Given the description of an element on the screen output the (x, y) to click on. 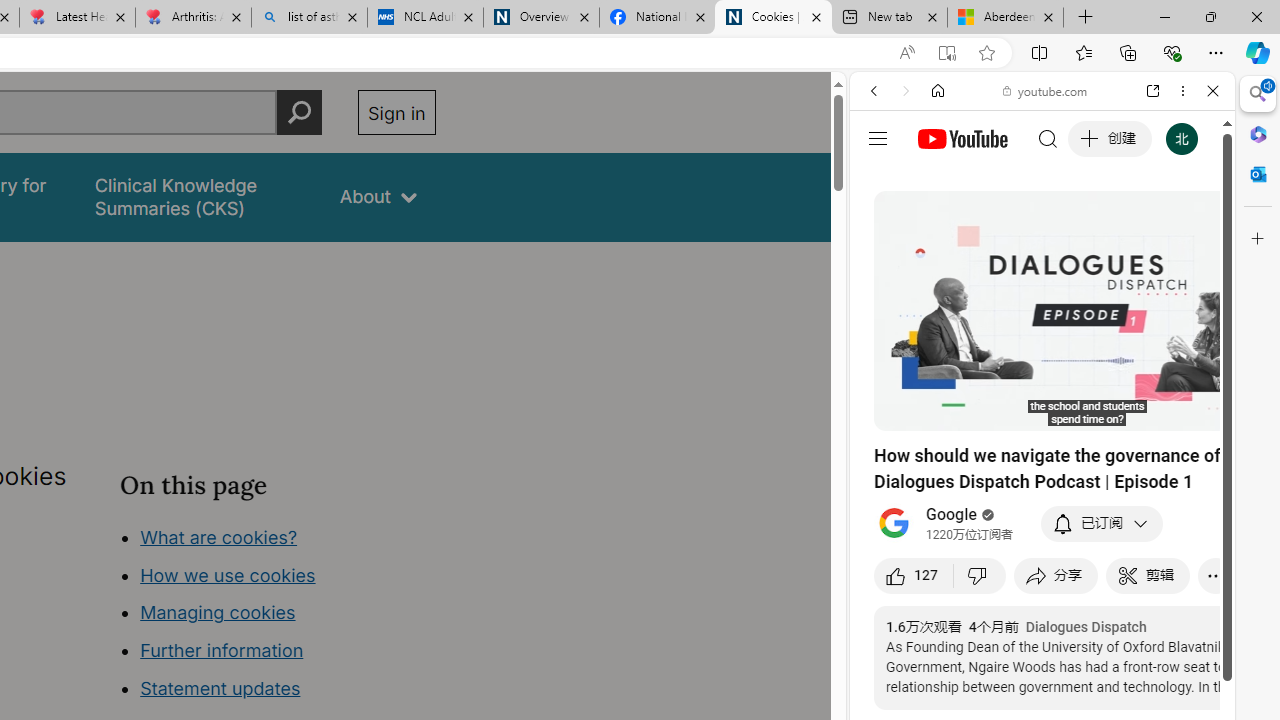
false (198, 196)
Search Filter, IMAGES (939, 228)
youtube.com (1046, 90)
